Given the description of an element on the screen output the (x, y) to click on. 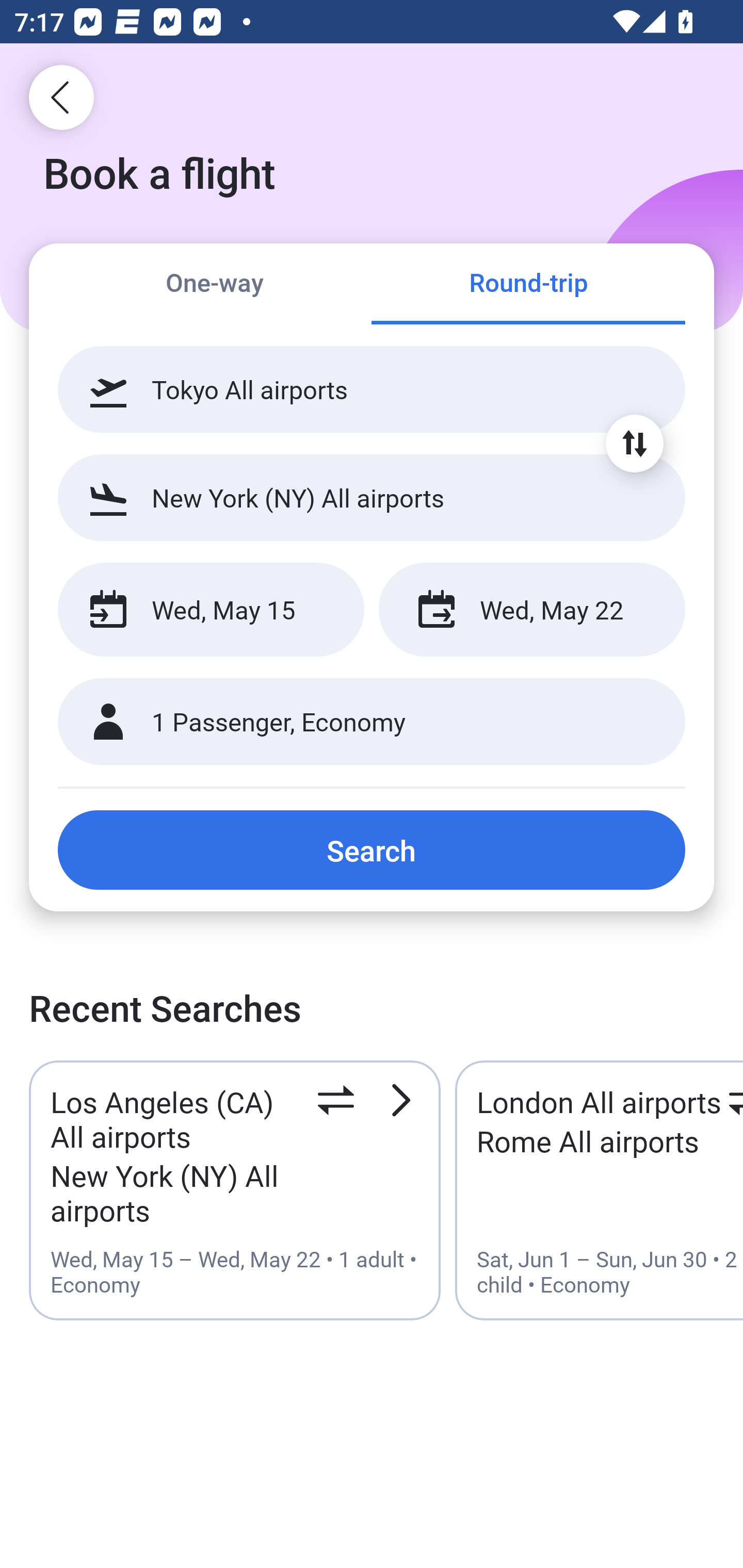
One-way (214, 284)
Tokyo All airports (371, 389)
New York (NY) All airports (371, 497)
Wed, May 15 (210, 609)
Wed, May 22 (531, 609)
1 Passenger, Economy (371, 721)
Search (371, 849)
